Given the description of an element on the screen output the (x, y) to click on. 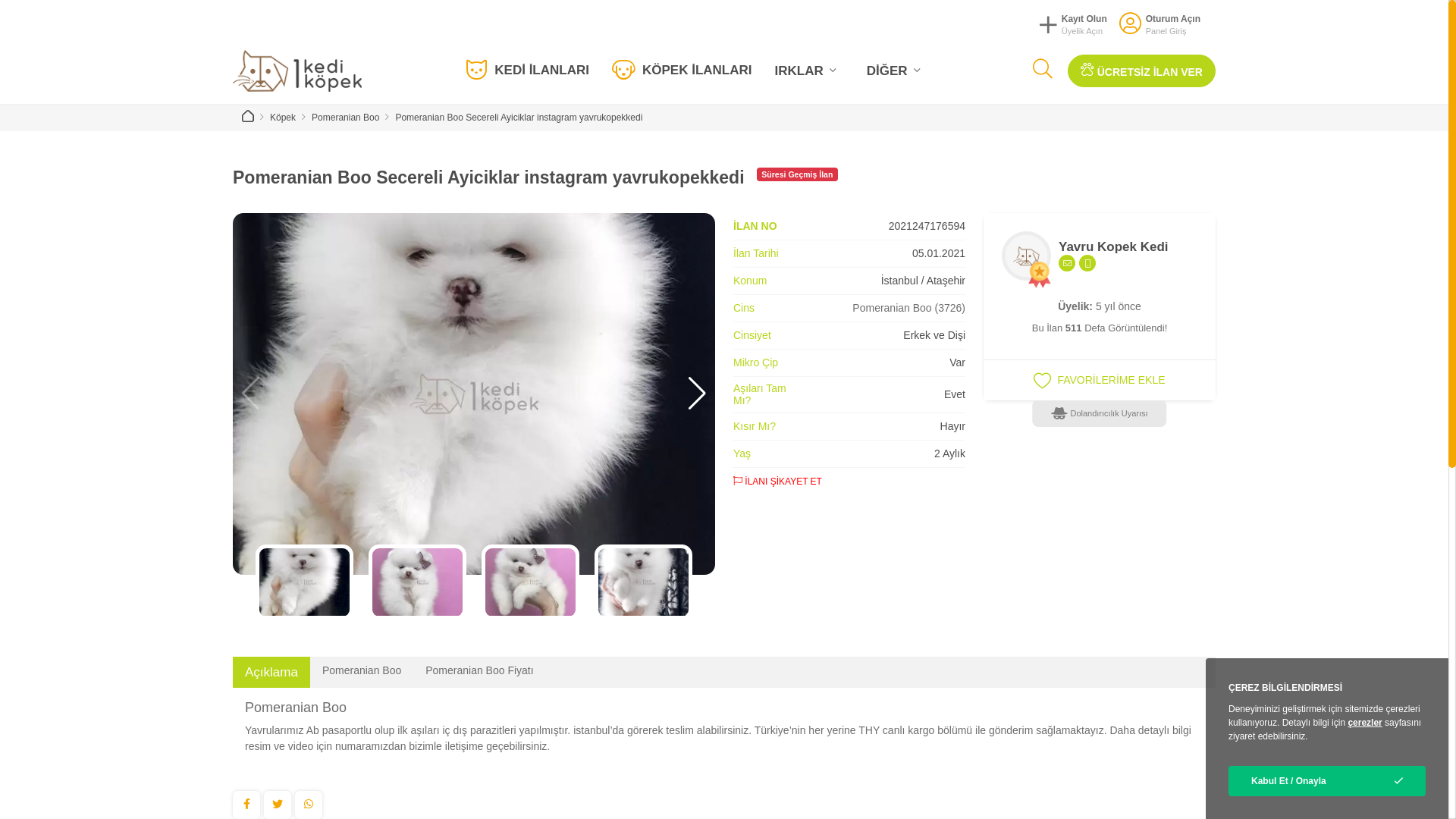
IRKLAR Element type: text (808, 70)
Kabul Et / Onayla Element type: text (1326, 780)
Pomeranian Boo Element type: text (345, 117)
Pomeranian Boo (3726) Element type: text (908, 308)
Yavru Kopek Kedi Element type: text (1113, 246)
Pomeranian Boo Element type: text (361, 670)
